Given the description of an element on the screen output the (x, y) to click on. 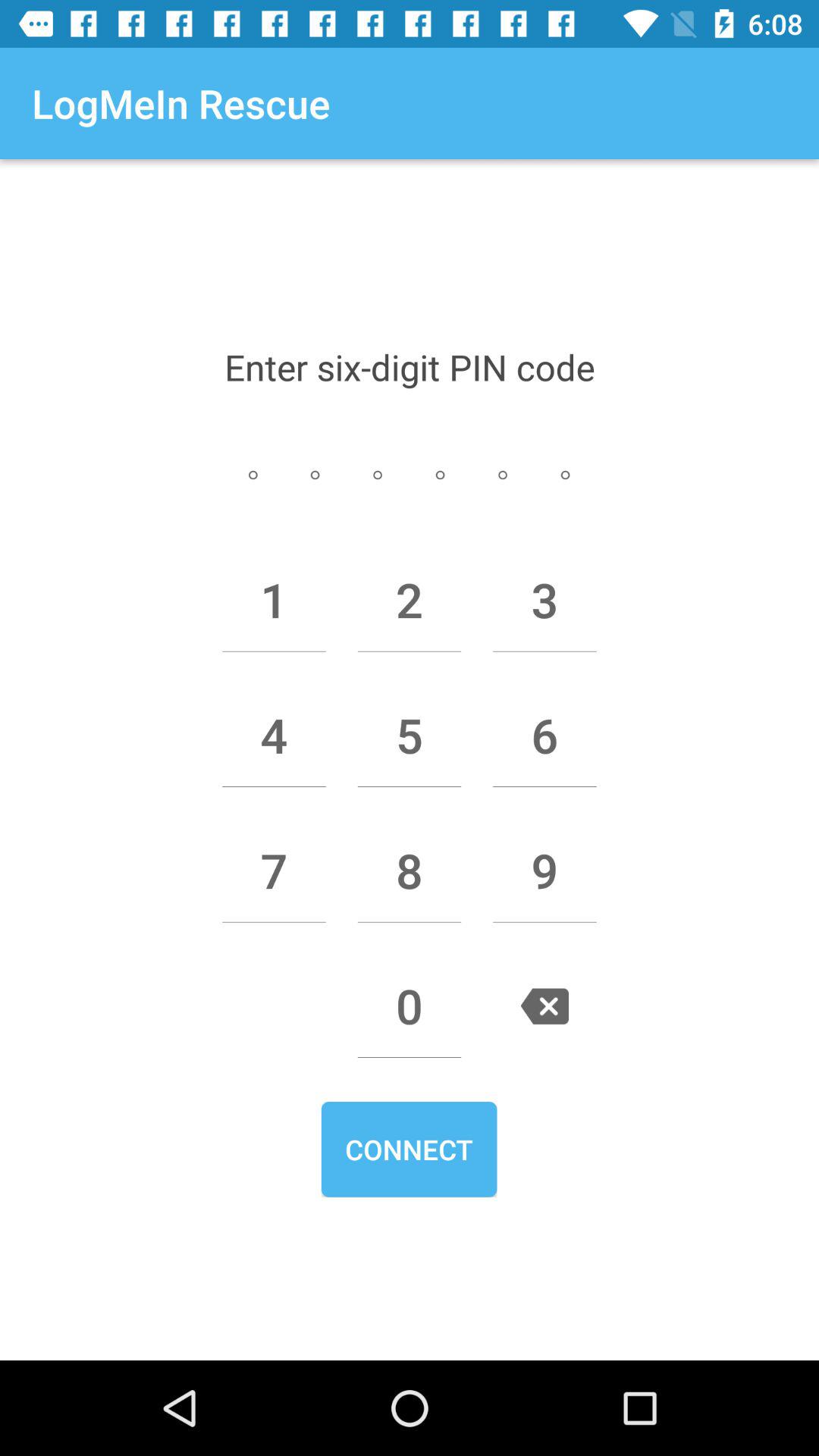
press the icon below 8 (409, 1005)
